Given the description of an element on the screen output the (x, y) to click on. 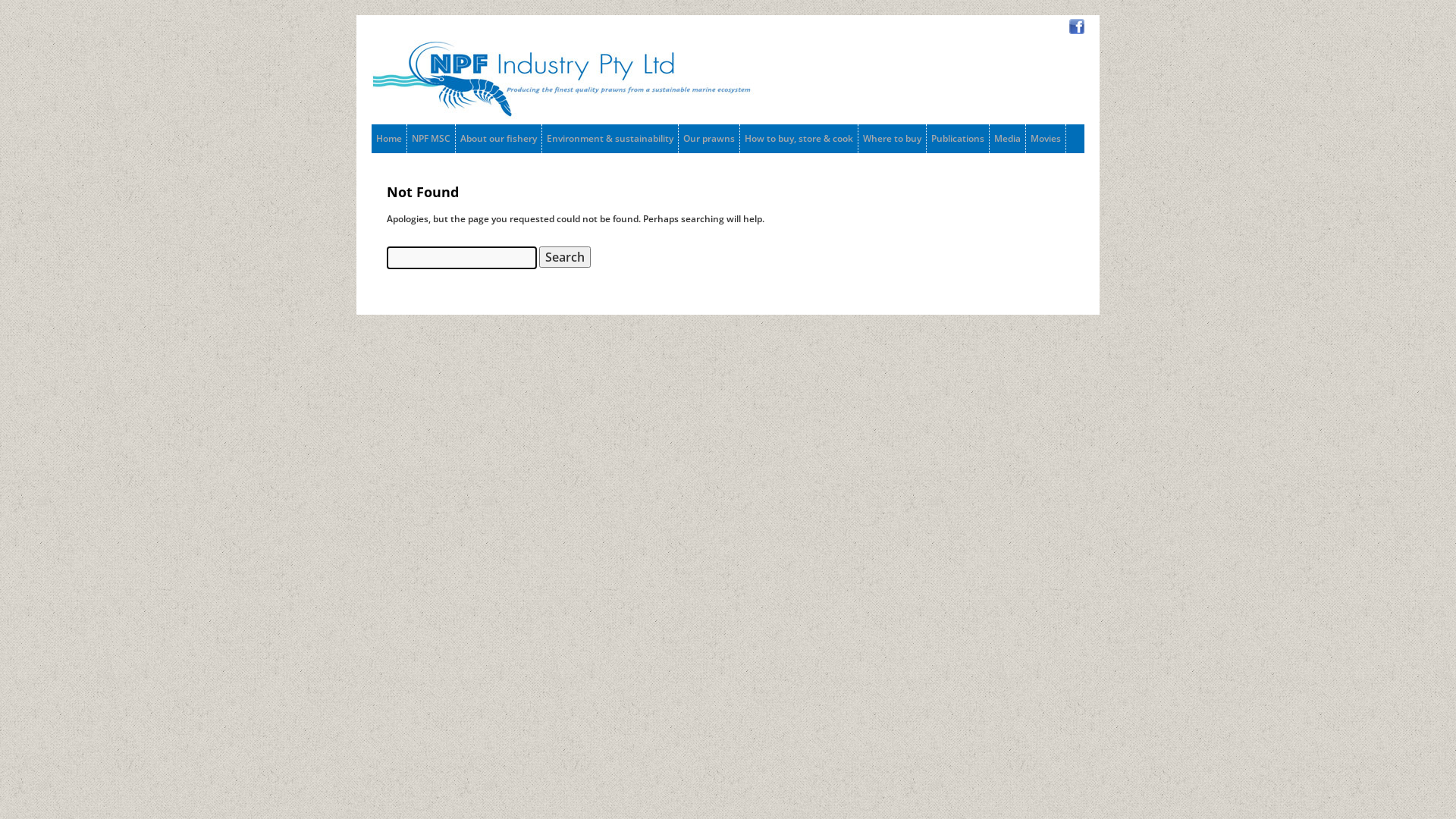
Media Element type: text (1007, 138)
Our prawns Element type: text (708, 138)
Publications Element type: text (957, 138)
NPF MSC Element type: text (431, 138)
Where to buy Element type: text (891, 138)
Environment & sustainability Element type: text (609, 138)
Search Element type: text (564, 256)
How to buy, store & cook Element type: text (798, 138)
About our fishery Element type: text (498, 138)
Movies Element type: text (1045, 138)
Home Element type: text (388, 138)
